Given the description of an element on the screen output the (x, y) to click on. 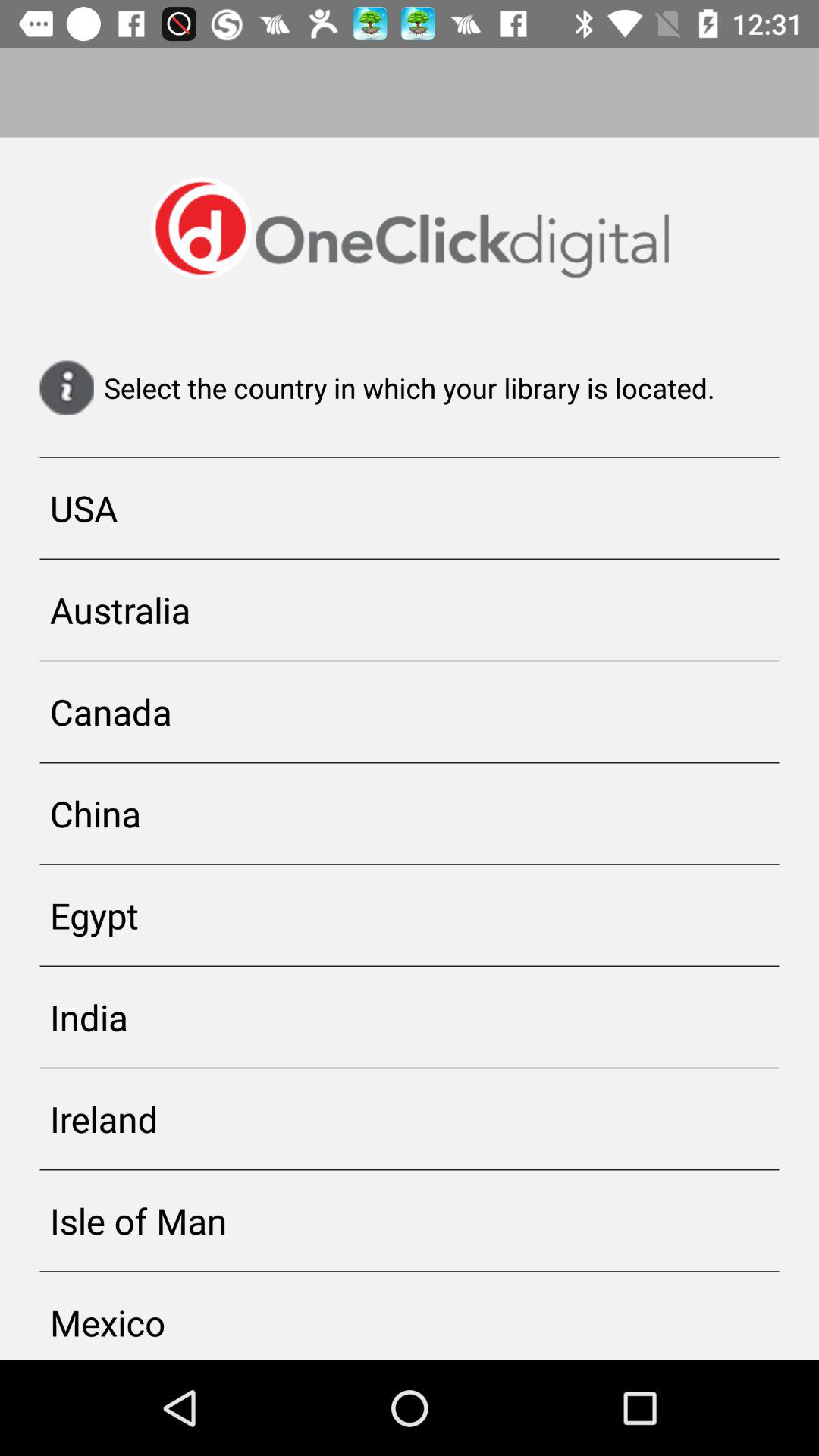
flip to ireland (409, 1118)
